Given the description of an element on the screen output the (x, y) to click on. 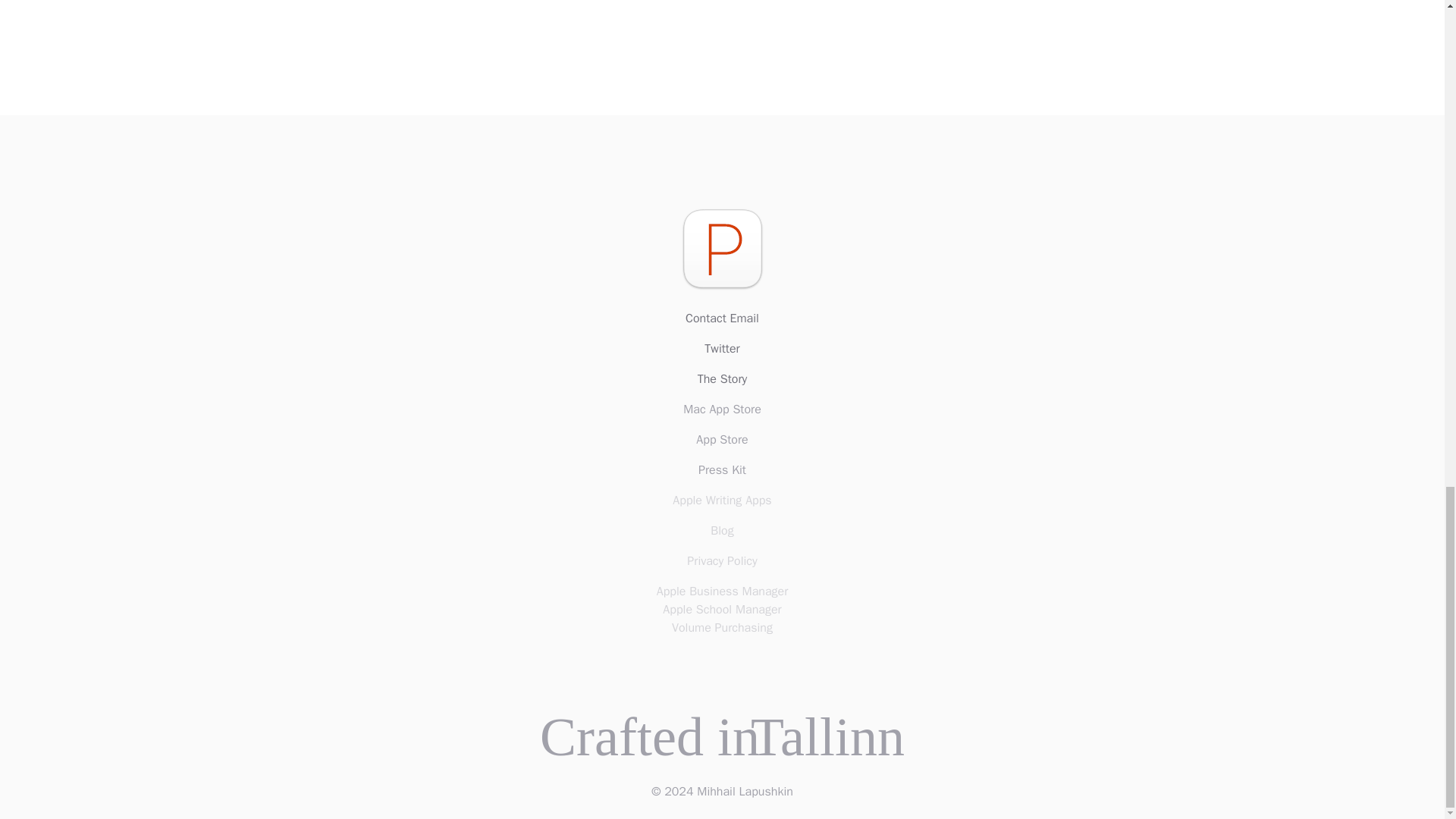
Blog (722, 530)
Mihhail Lapushkin (745, 791)
Press Kit (722, 470)
Twitter (722, 348)
Crafted inTallinn (722, 736)
The Story (722, 379)
App Store (722, 439)
Contact Email (722, 318)
Privacy Policy (722, 561)
Apple Writing Apps (722, 500)
Mac App Store (722, 409)
